Given the description of an element on the screen output the (x, y) to click on. 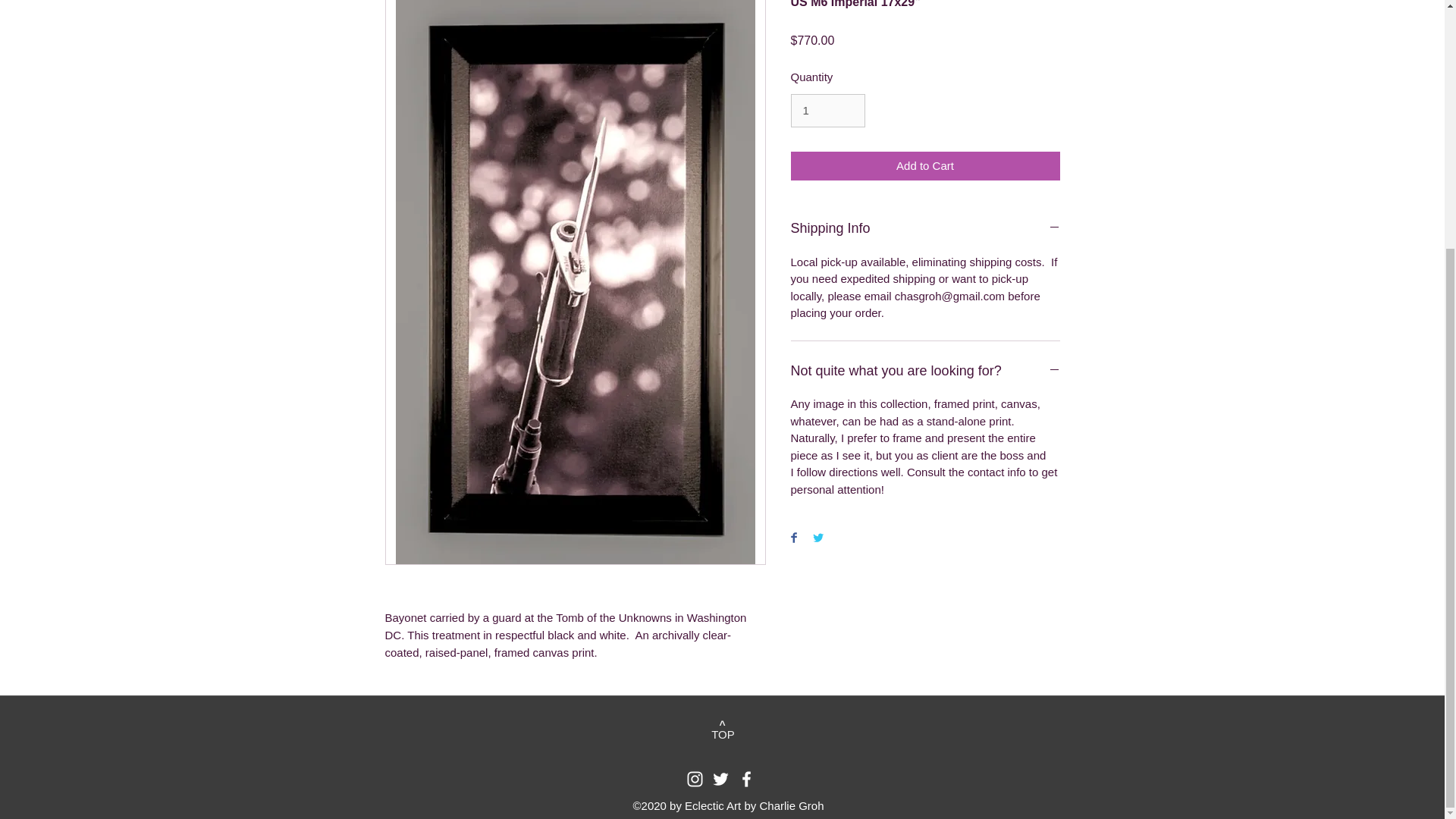
TOP (722, 734)
1 (827, 110)
Shipping Info (924, 228)
Add to Cart (924, 165)
Not quite what you are looking for? (924, 371)
